Given the description of an element on the screen output the (x, y) to click on. 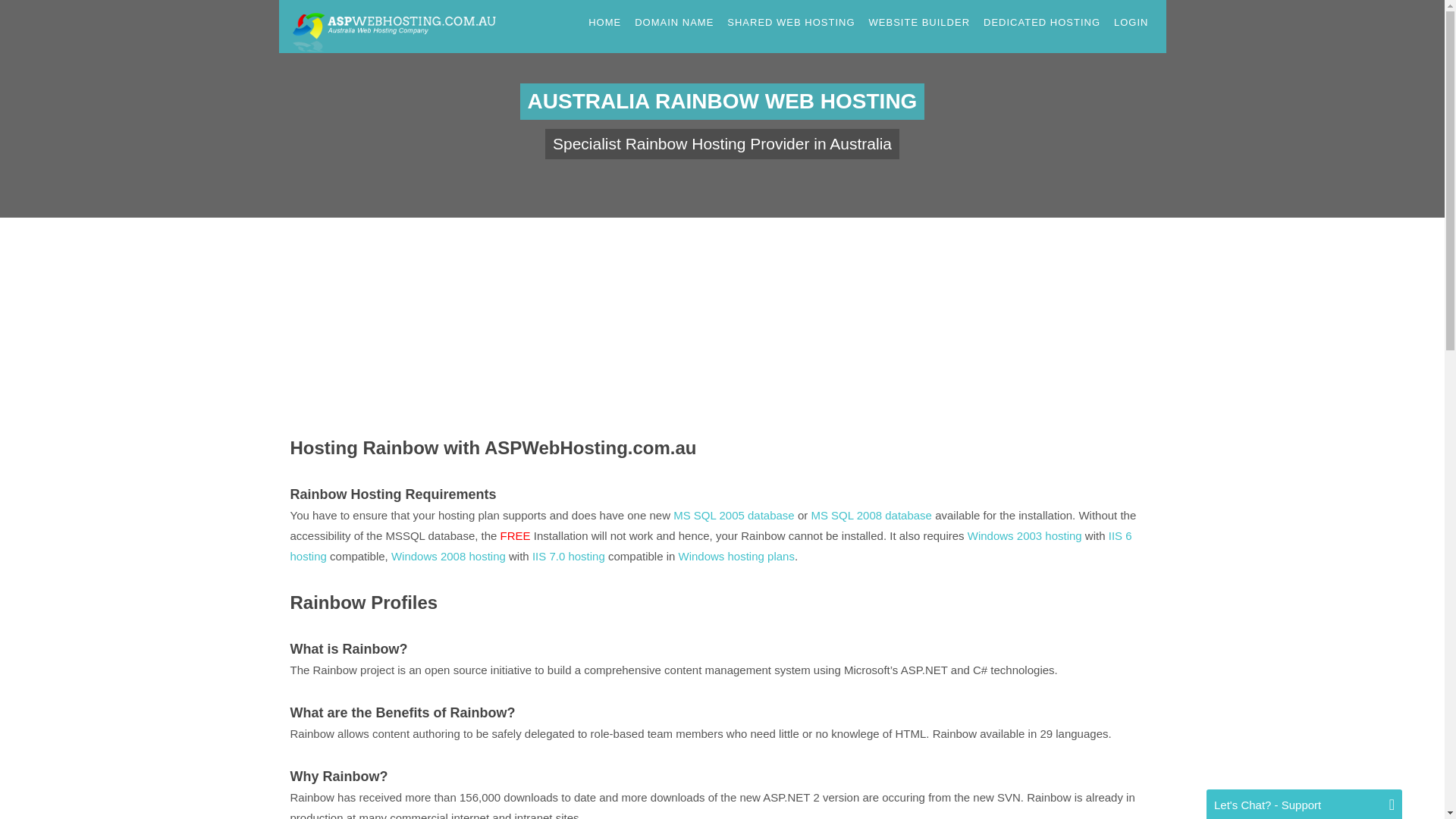
DOMAIN NAME (673, 22)
MS SQL 2005 database (733, 514)
LOGIN (1131, 22)
WEBSITE BUILDER (919, 22)
Windows 2003 hosting (1024, 535)
MS SQL 2008 database (870, 514)
IIS 7.0 hosting (568, 555)
DEDICATED HOSTING (1041, 22)
IIS 6 hosting (710, 545)
SHARED WEB HOSTING (790, 22)
